Given the description of an element on the screen output the (x, y) to click on. 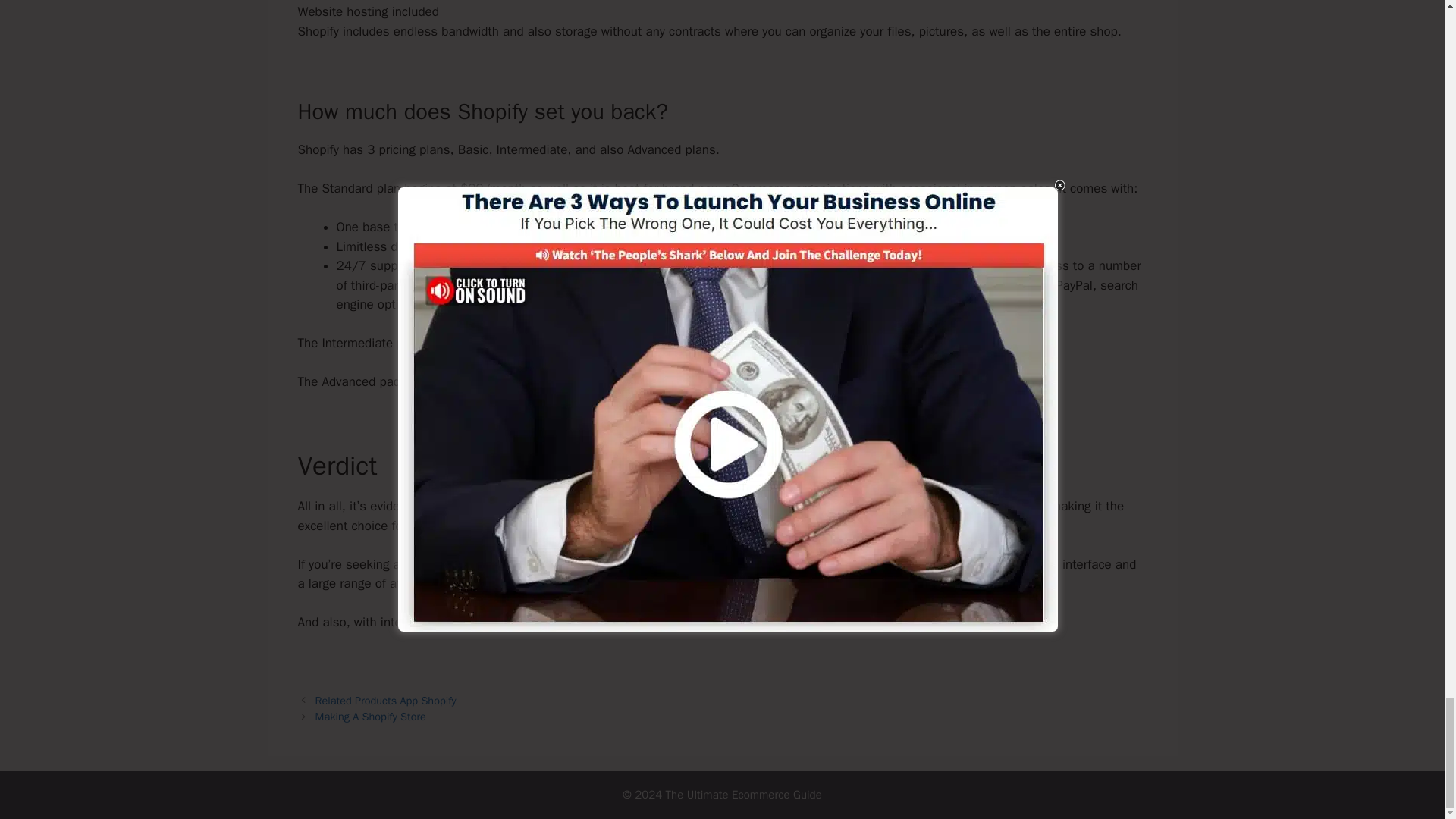
Making A Shopify Store (370, 716)
eCommerce platform (469, 564)
Related Products App Shopify (386, 700)
Shopify can aid you to drive web traffic (763, 621)
Shopify (461, 505)
